Given the description of an element on the screen output the (x, y) to click on. 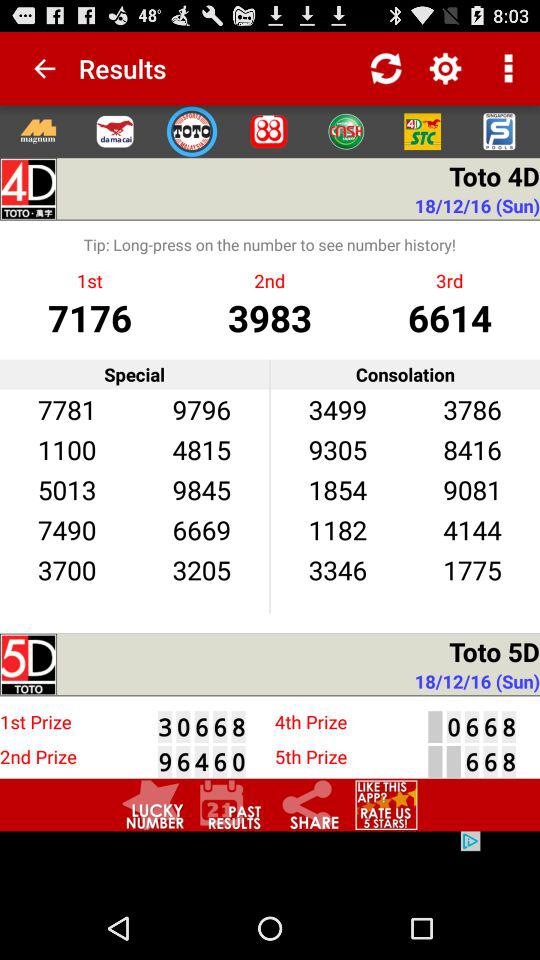
share the results (308, 804)
